Given the description of an element on the screen output the (x, y) to click on. 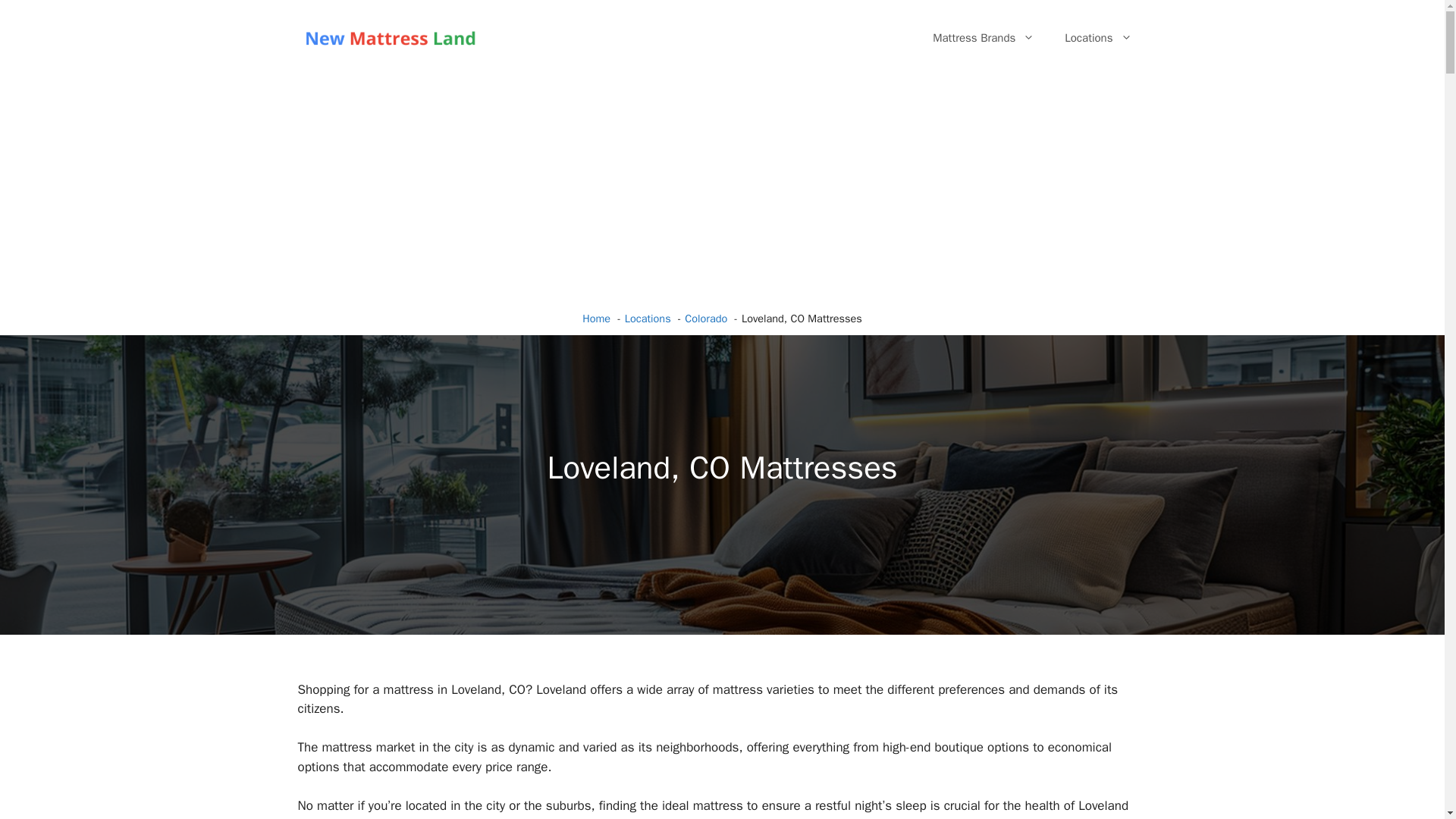
Locations (1098, 37)
Mattress Brands (983, 37)
